Given the description of an element on the screen output the (x, y) to click on. 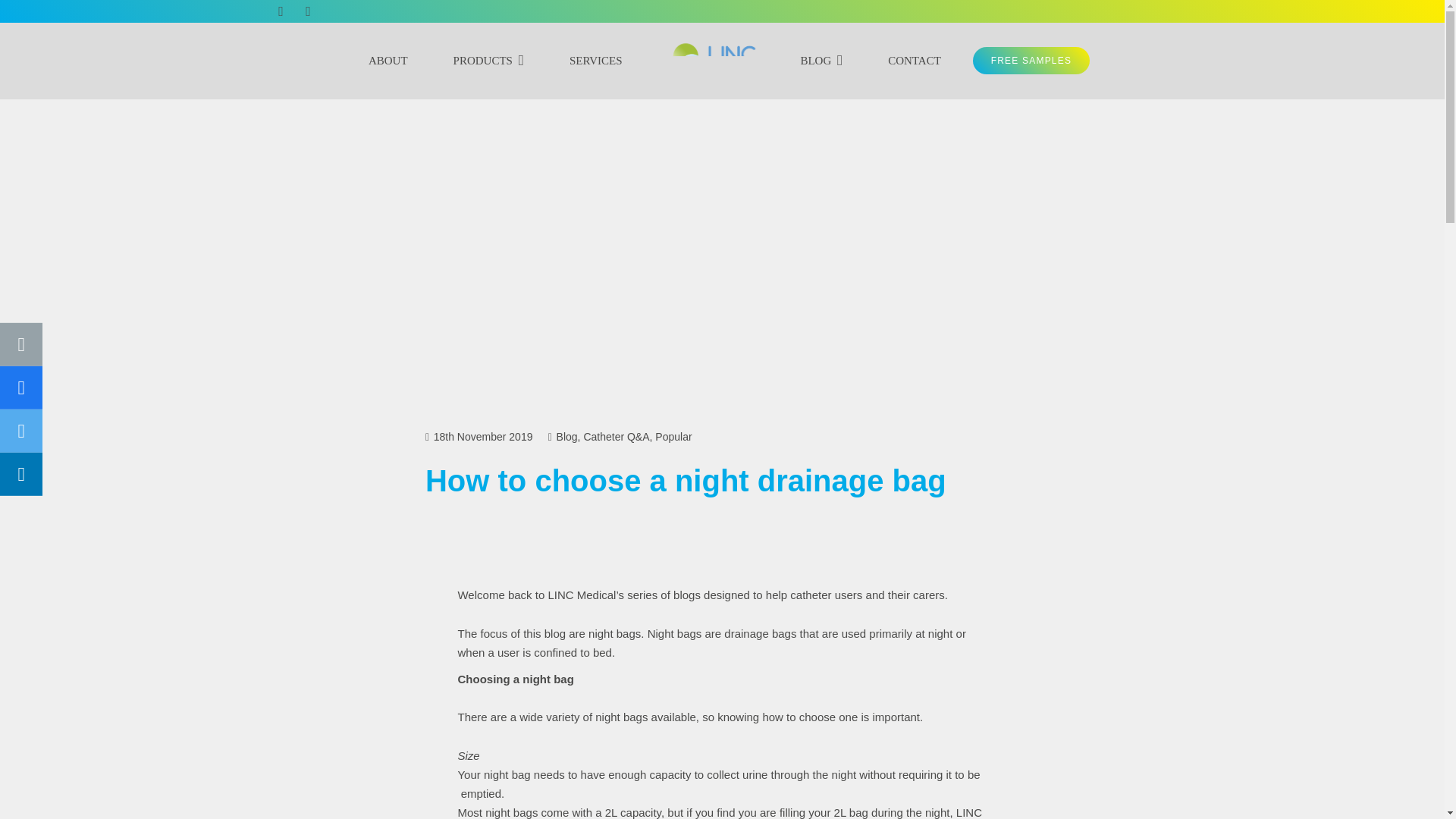
ABOUT (388, 60)
Share this (21, 474)
BLOG (820, 60)
Share this (21, 387)
Email this (21, 344)
FREE SAMPLES (1030, 60)
Twitter (280, 12)
SERVICES (596, 60)
CONTACT (913, 60)
PRODUCTS (488, 60)
